Given the description of an element on the screen output the (x, y) to click on. 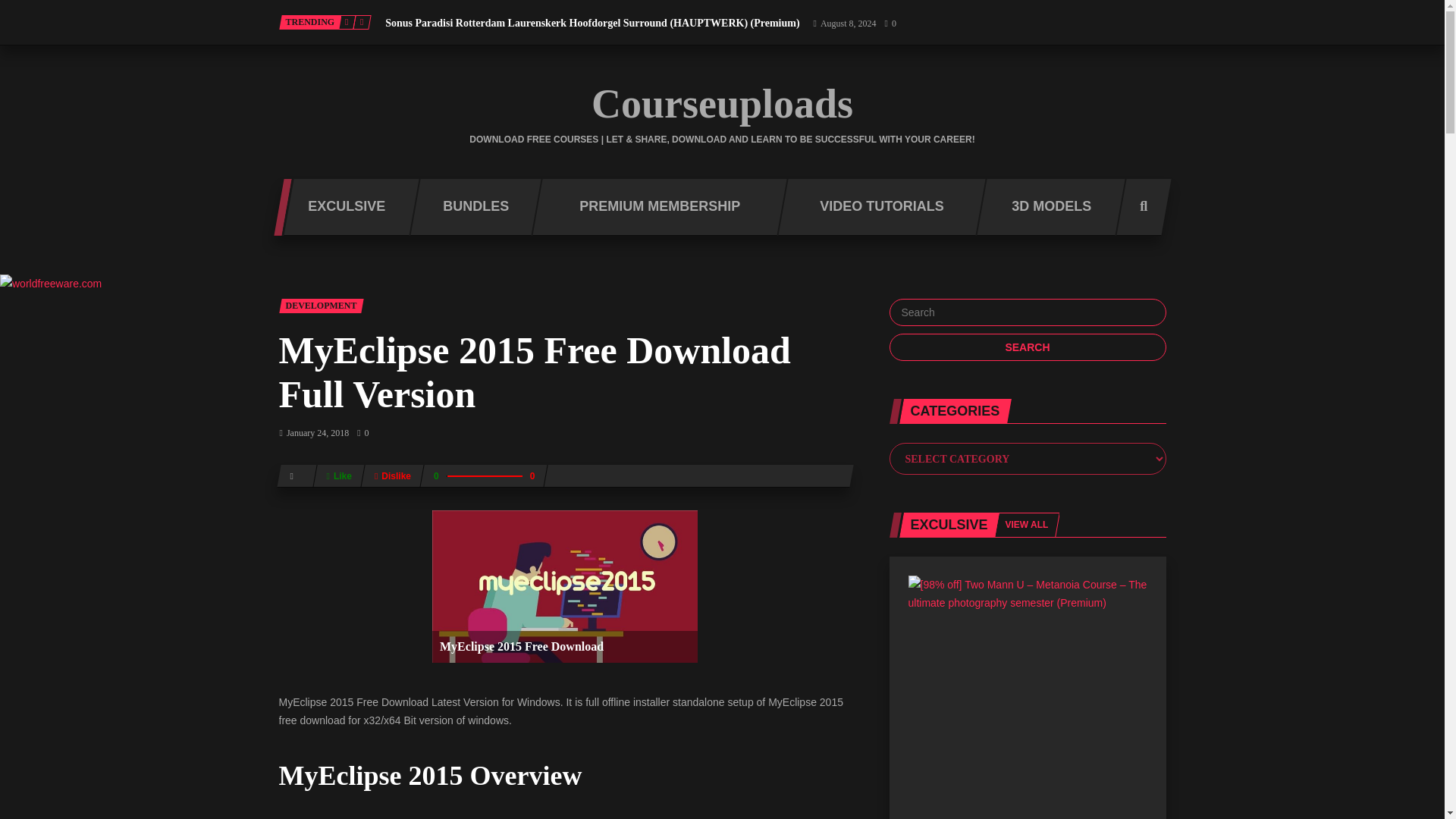
Bundles (470, 207)
EXCULSIVE (341, 207)
0 (889, 23)
Video Tutorials (876, 207)
Courseuploads (722, 103)
Search (1027, 347)
Premium membership (654, 207)
August 8, 2024 (844, 23)
PREMIUM MEMBERSHIP (654, 207)
TRENDING (310, 22)
